Given the description of an element on the screen output the (x, y) to click on. 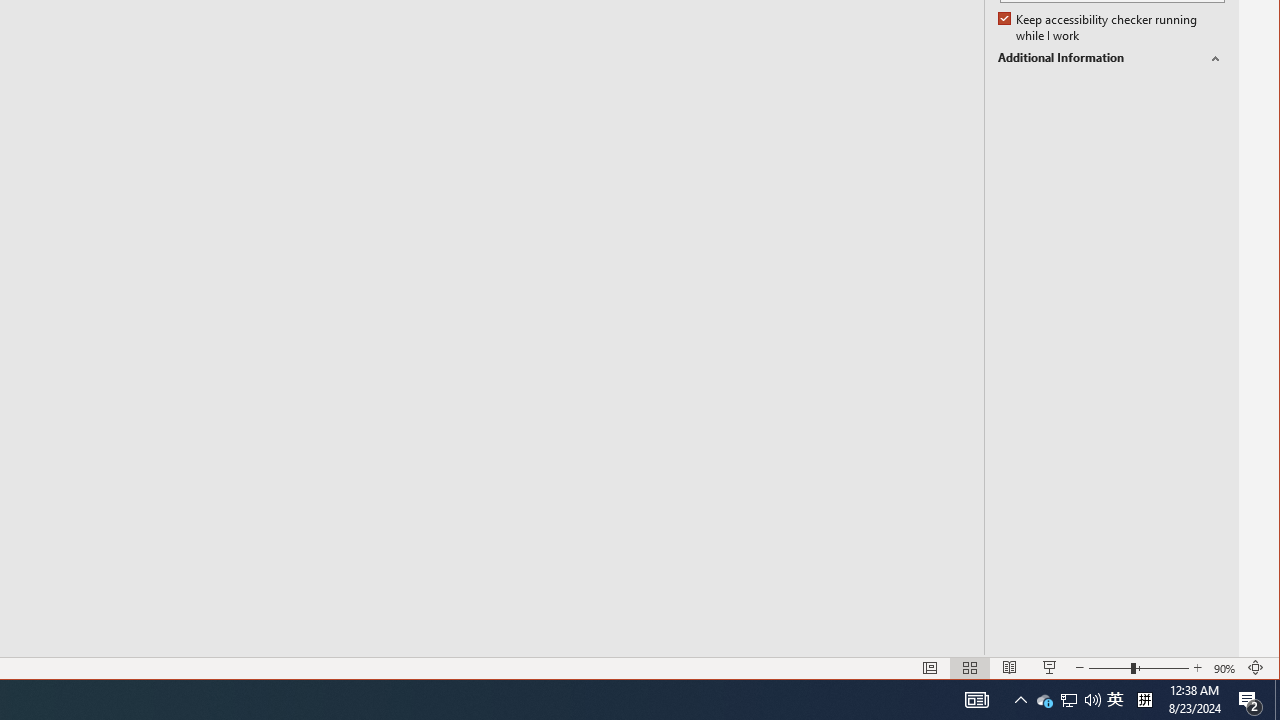
Show desktop (1069, 699)
Reading View (1277, 699)
Notification Chevron (1009, 668)
Zoom (1020, 699)
Action Center, 2 new notifications (1139, 668)
Normal (1250, 699)
AutomationID: 4105 (929, 668)
Q2790: 100% (976, 699)
Slide Show (1092, 699)
Zoom In (1050, 668)
Slide Sorter (1198, 668)
User Promoted Notification Area (969, 668)
Zoom 90% (1068, 699)
